Given the description of an element on the screen output the (x, y) to click on. 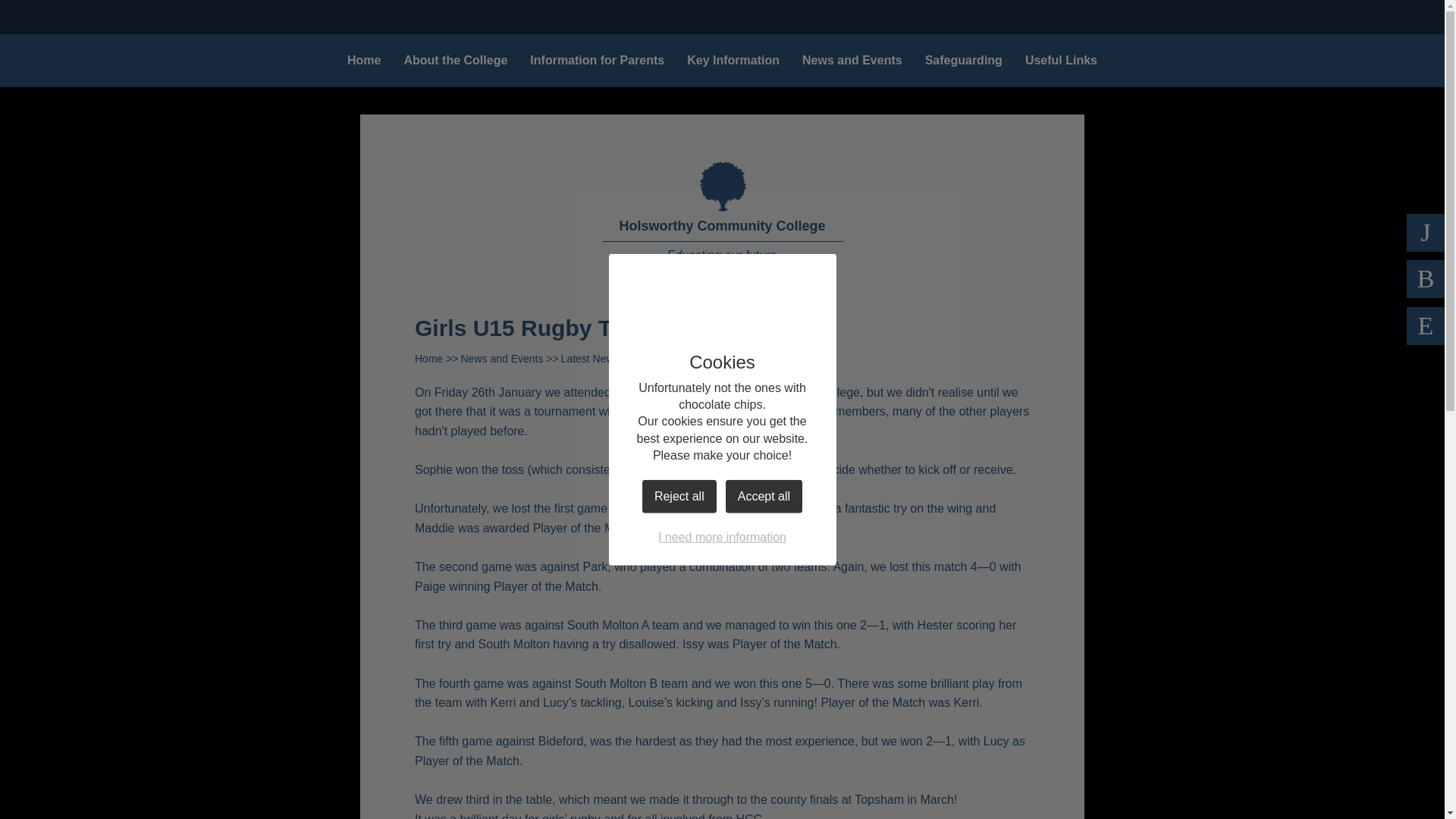
Home Page (721, 185)
Home (363, 60)
About the College (454, 60)
